Given the description of an element on the screen output the (x, y) to click on. 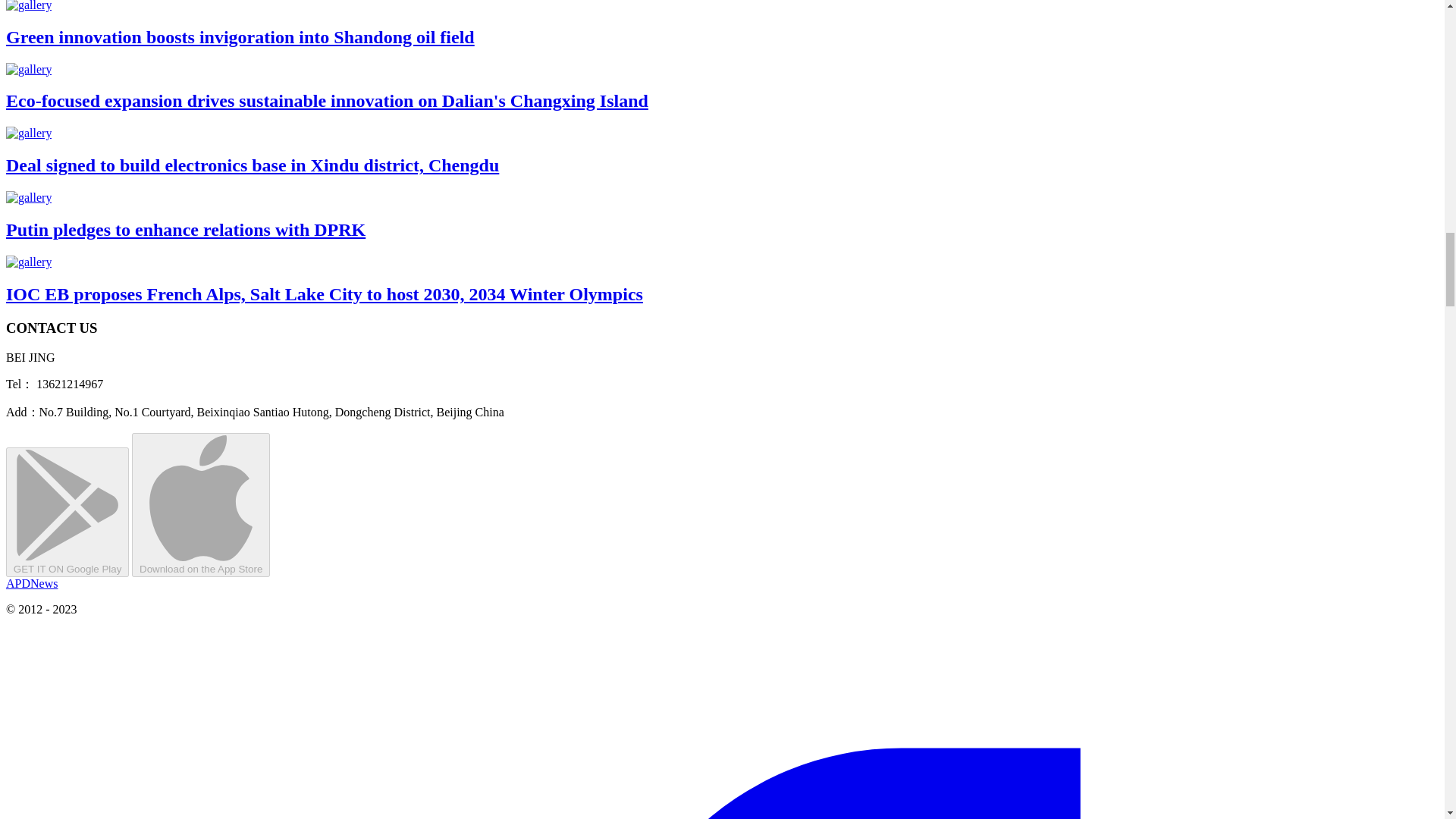
APDNews (31, 583)
Download on the App Store (200, 505)
GET IT ON Google Play (67, 511)
